Given the description of an element on the screen output the (x, y) to click on. 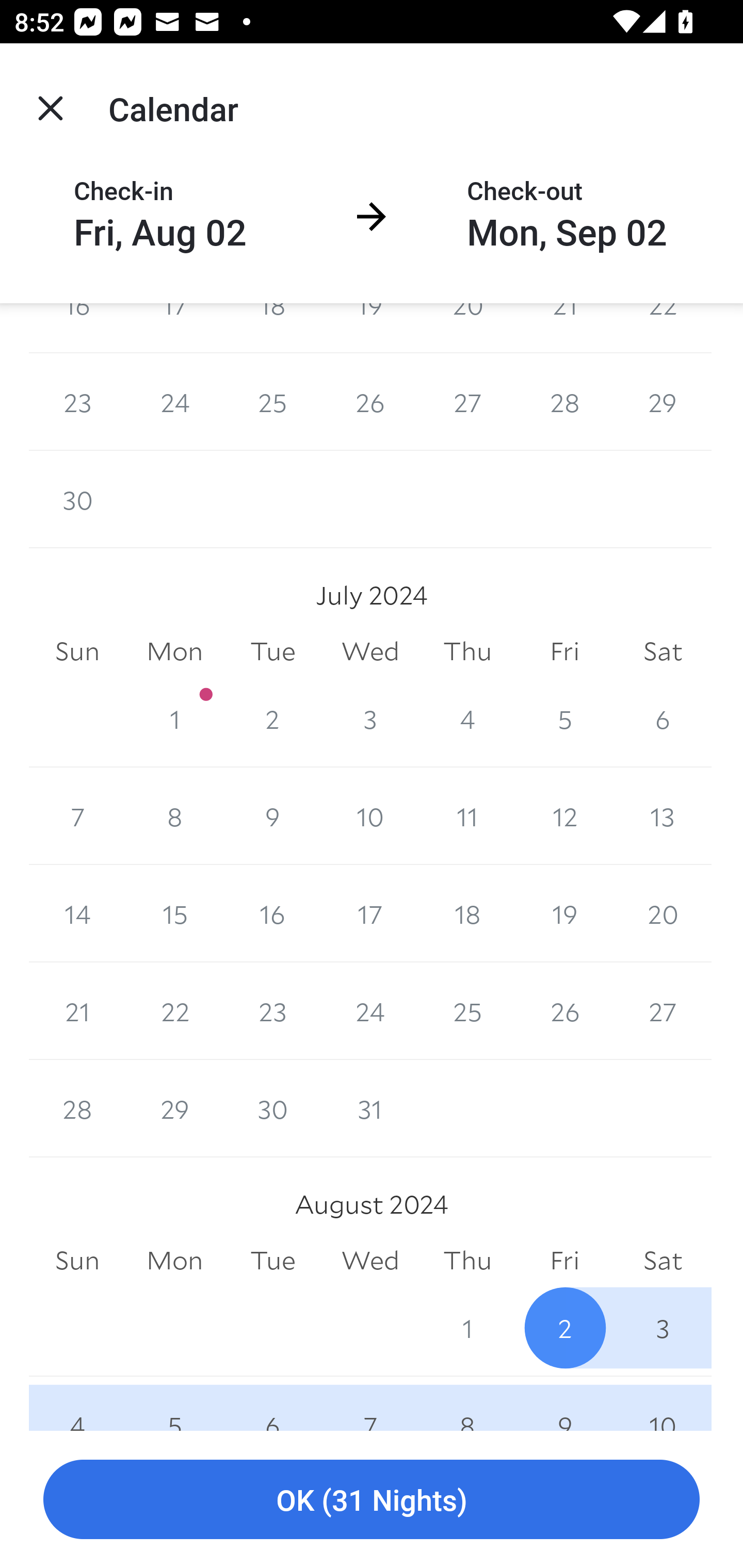
23 23 June 2024 (77, 401)
24 24 June 2024 (174, 401)
25 25 June 2024 (272, 401)
26 26 June 2024 (370, 401)
27 27 June 2024 (467, 401)
28 28 June 2024 (564, 401)
29 29 June 2024 (662, 401)
30 30 June 2024 (77, 499)
Sun (77, 651)
Mon (174, 651)
Tue (272, 651)
Wed (370, 651)
Thu (467, 651)
Fri (564, 651)
Sat (662, 651)
1 1 July 2024 (174, 717)
2 2 July 2024 (272, 717)
3 3 July 2024 (370, 717)
4 4 July 2024 (467, 717)
5 5 July 2024 (564, 717)
6 6 July 2024 (662, 717)
7 7 July 2024 (77, 815)
8 8 July 2024 (174, 815)
9 9 July 2024 (272, 815)
10 10 July 2024 (370, 815)
11 11 July 2024 (467, 815)
12 12 July 2024 (564, 815)
13 13 July 2024 (662, 815)
14 14 July 2024 (77, 913)
15 15 July 2024 (174, 913)
16 16 July 2024 (272, 913)
17 17 July 2024 (370, 913)
18 18 July 2024 (467, 913)
19 19 July 2024 (564, 913)
20 20 July 2024 (662, 913)
21 21 July 2024 (77, 1010)
22 22 July 2024 (174, 1010)
23 23 July 2024 (272, 1010)
24 24 July 2024 (370, 1010)
25 25 July 2024 (467, 1010)
26 26 July 2024 (564, 1010)
27 27 July 2024 (662, 1010)
28 28 July 2024 (77, 1108)
29 29 July 2024 (174, 1108)
30 30 July 2024 (272, 1108)
31 31 July 2024 (370, 1108)
Sun (77, 1260)
Mon (174, 1260)
Tue (272, 1260)
Wed (370, 1260)
Thu (467, 1260)
Fri (564, 1260)
Sat (662, 1260)
1 1 August 2024 (467, 1327)
2 2 August 2024 (564, 1327)
3 3 August 2024 (662, 1327)
4 4 August 2024 (77, 1403)
5 5 August 2024 (174, 1403)
6 6 August 2024 (272, 1403)
7 7 August 2024 (370, 1403)
8 8 August 2024 (467, 1403)
9 9 August 2024 (564, 1403)
10 10 August 2024 (662, 1403)
OK (31 Nights) (371, 1499)
